Given the description of an element on the screen output the (x, y) to click on. 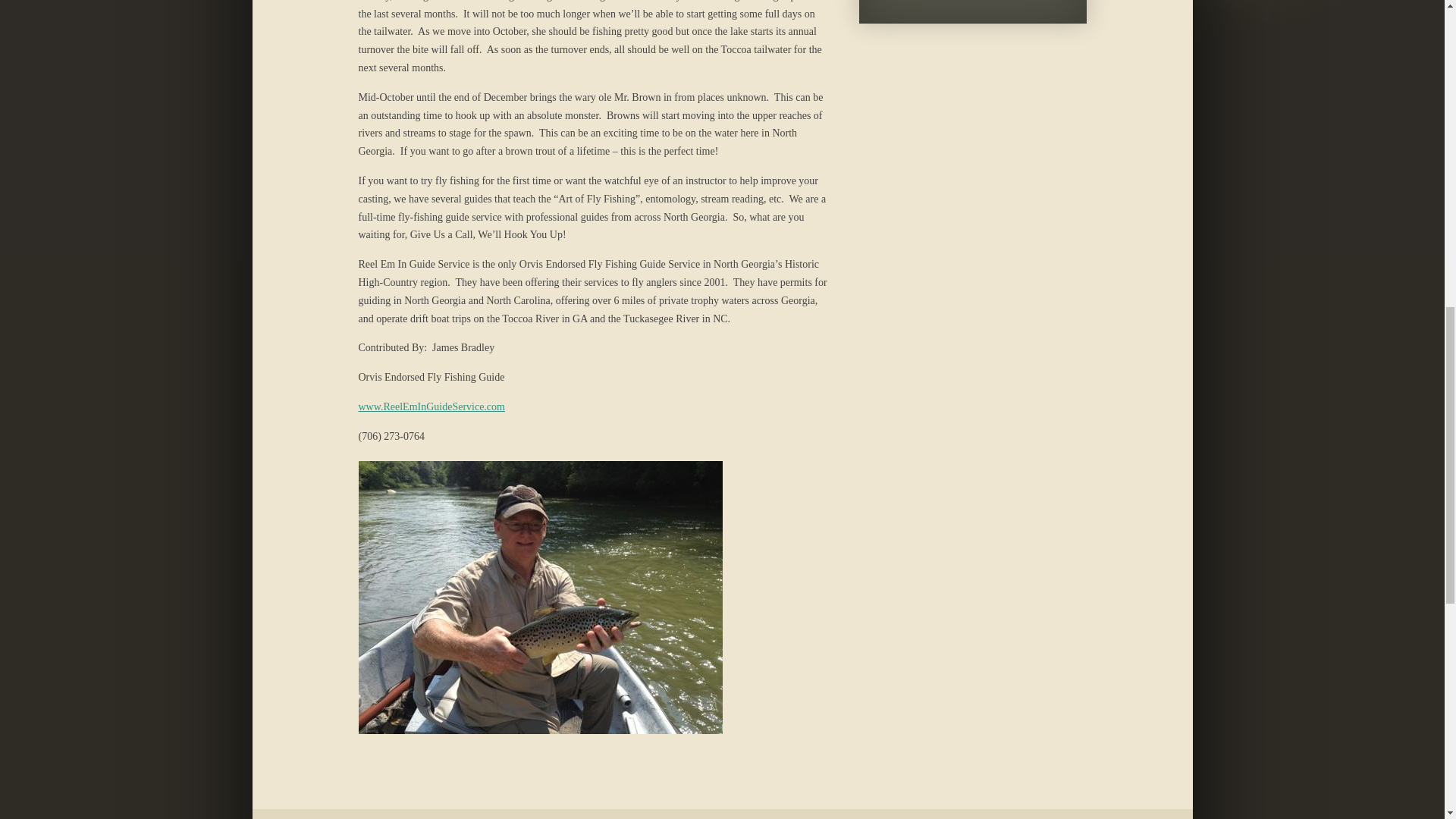
www.ReelEmInGuideService.com (430, 406)
